Given the description of an element on the screen output the (x, y) to click on. 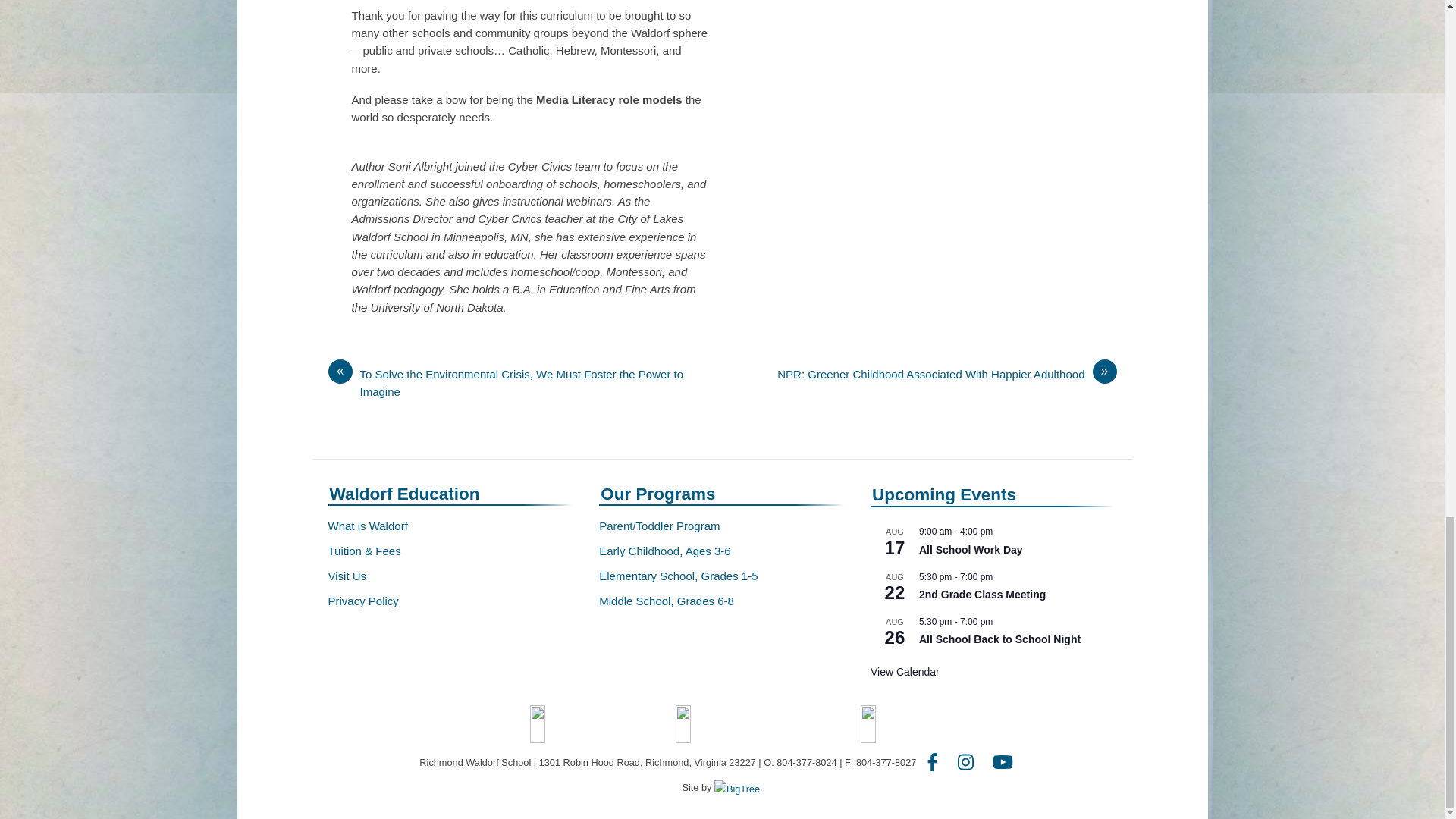
2nd Grade Class Meeting (981, 594)
View more events. (904, 671)
All School Back to School Night (999, 639)
All School Work Day (970, 549)
